Given the description of an element on the screen output the (x, y) to click on. 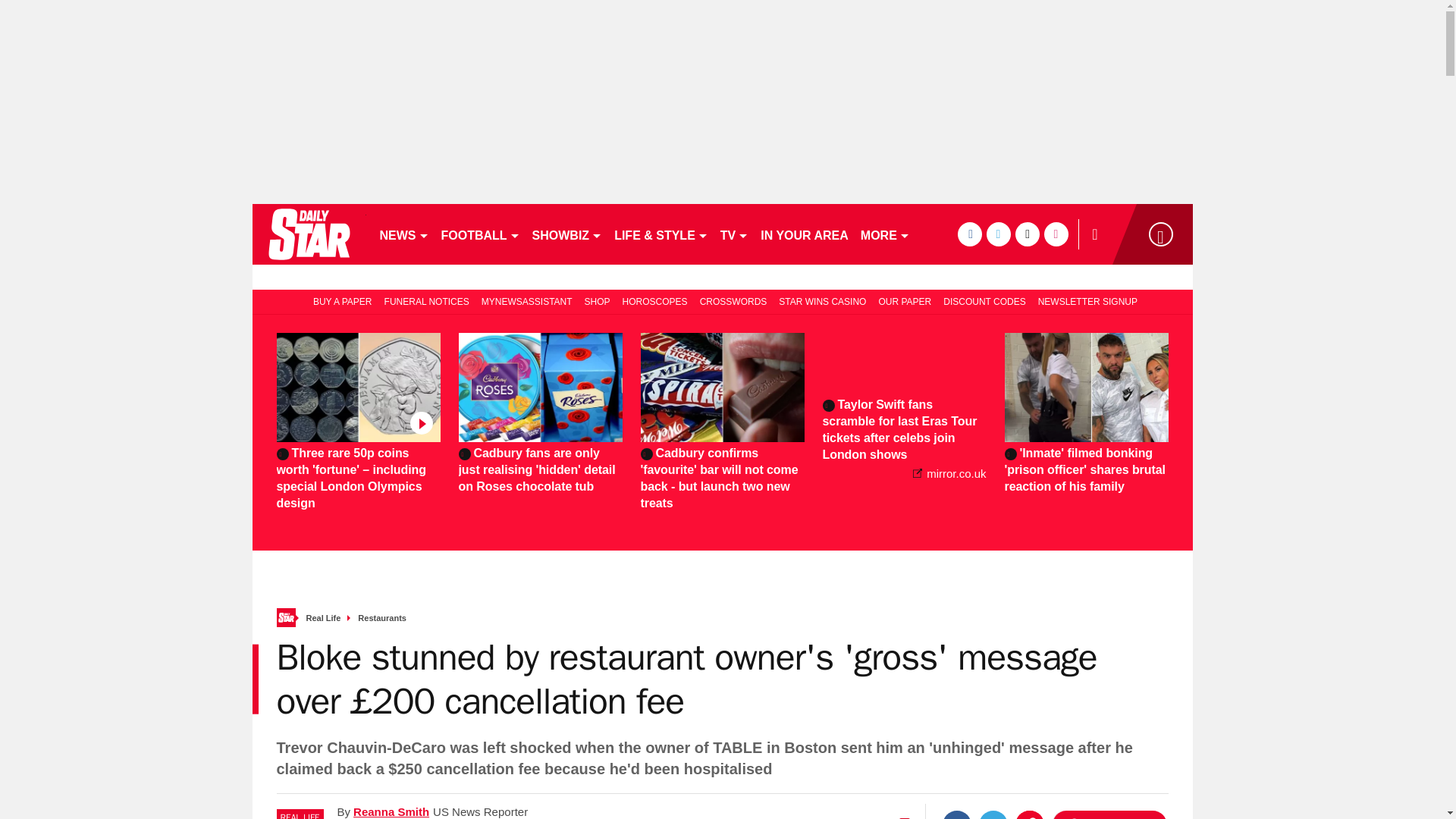
Facebook (956, 814)
tiktok (1026, 233)
dailystar (308, 233)
Twitter (992, 814)
FOOTBALL (480, 233)
SHOWBIZ (566, 233)
facebook (968, 233)
twitter (997, 233)
instagram (1055, 233)
NEWS (402, 233)
